Given the description of an element on the screen output the (x, y) to click on. 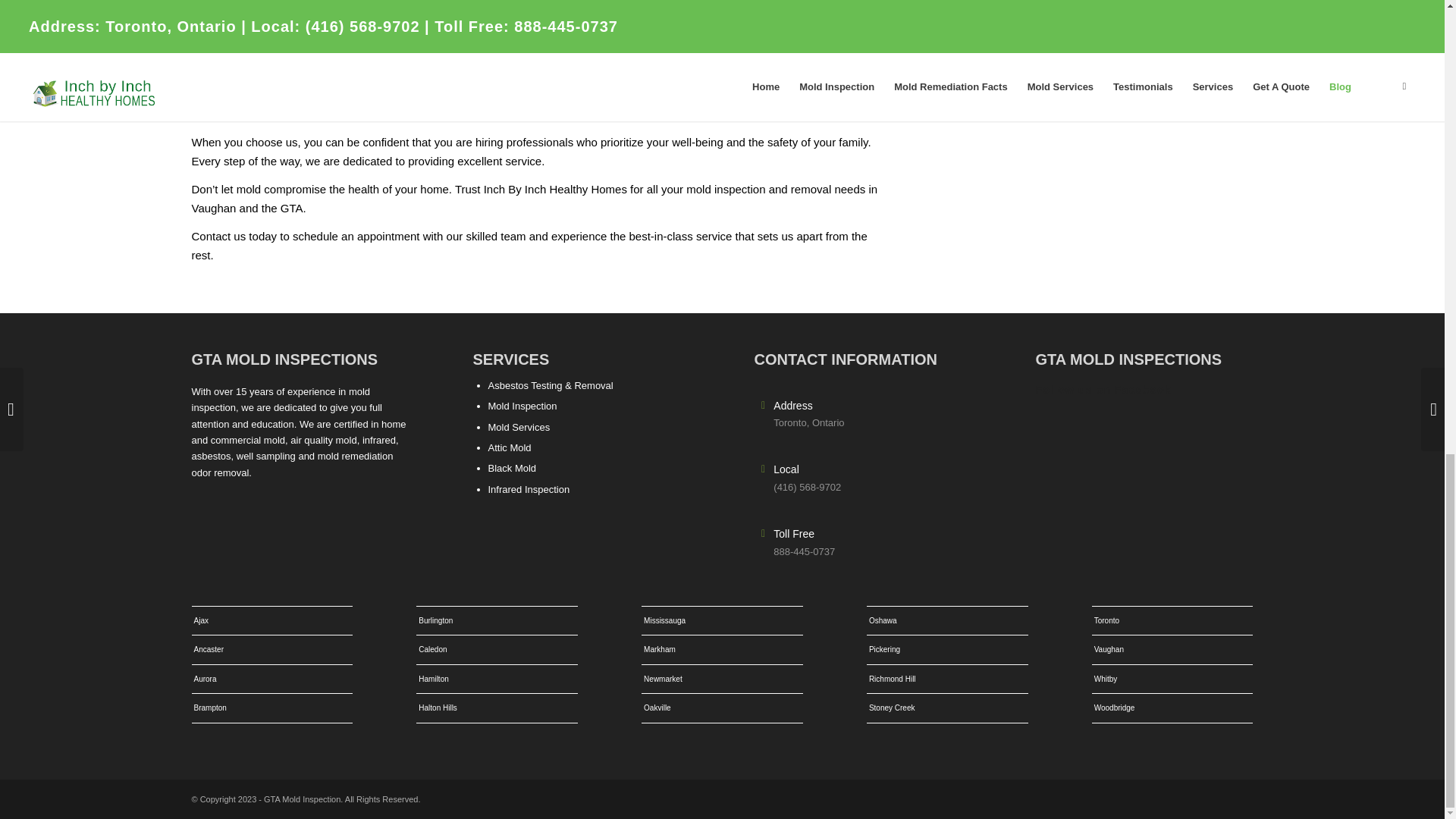
Stoney Creek (946, 707)
Burlington (497, 620)
20 (1097, 35)
Oshawa (946, 620)
Ancaster (271, 649)
Caledon (497, 649)
Brampton (271, 707)
Aurora (271, 678)
Markham (722, 649)
Halton Hills (497, 707)
